Given the description of an element on the screen output the (x, y) to click on. 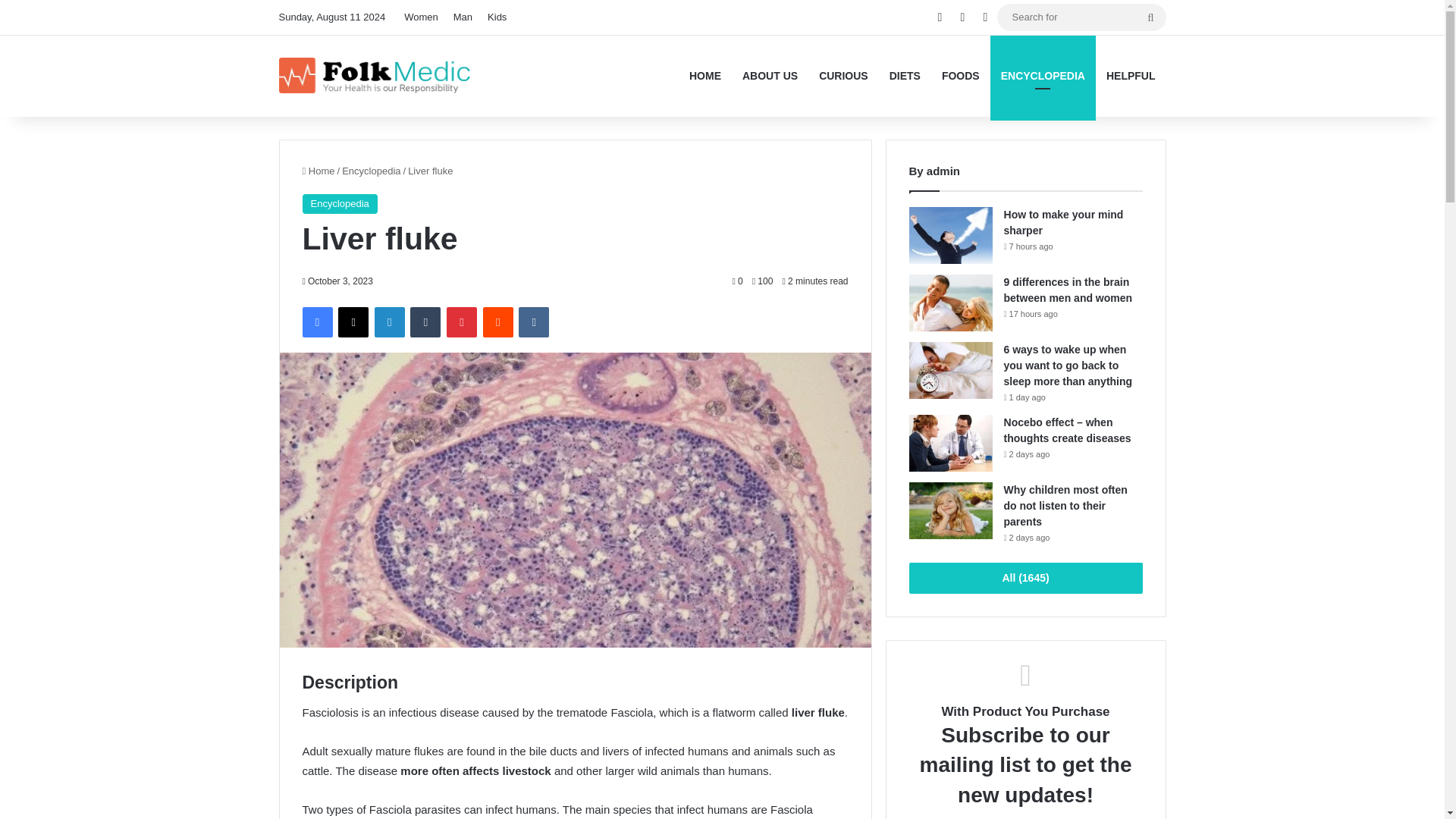
Reddit (498, 322)
Pinterest (461, 322)
LinkedIn (389, 322)
Facebook (316, 322)
Encyclopedia (339, 203)
Encyclopedia (371, 170)
Women (420, 17)
VKontakte (533, 322)
FolkMedic (376, 75)
X (352, 322)
